Given the description of an element on the screen output the (x, y) to click on. 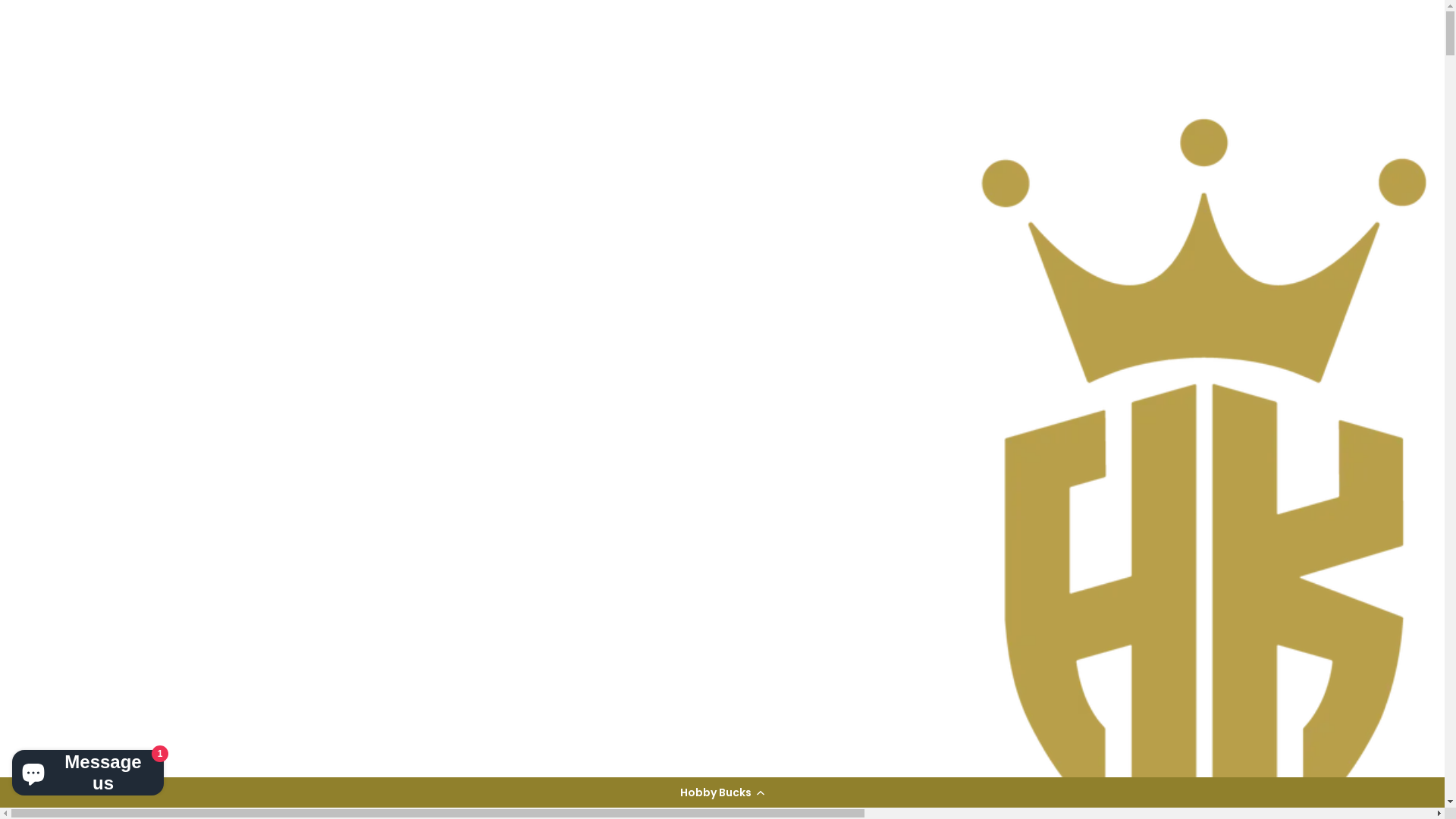
Shopify online store chat Element type: hover (87, 769)
